Given the description of an element on the screen output the (x, y) to click on. 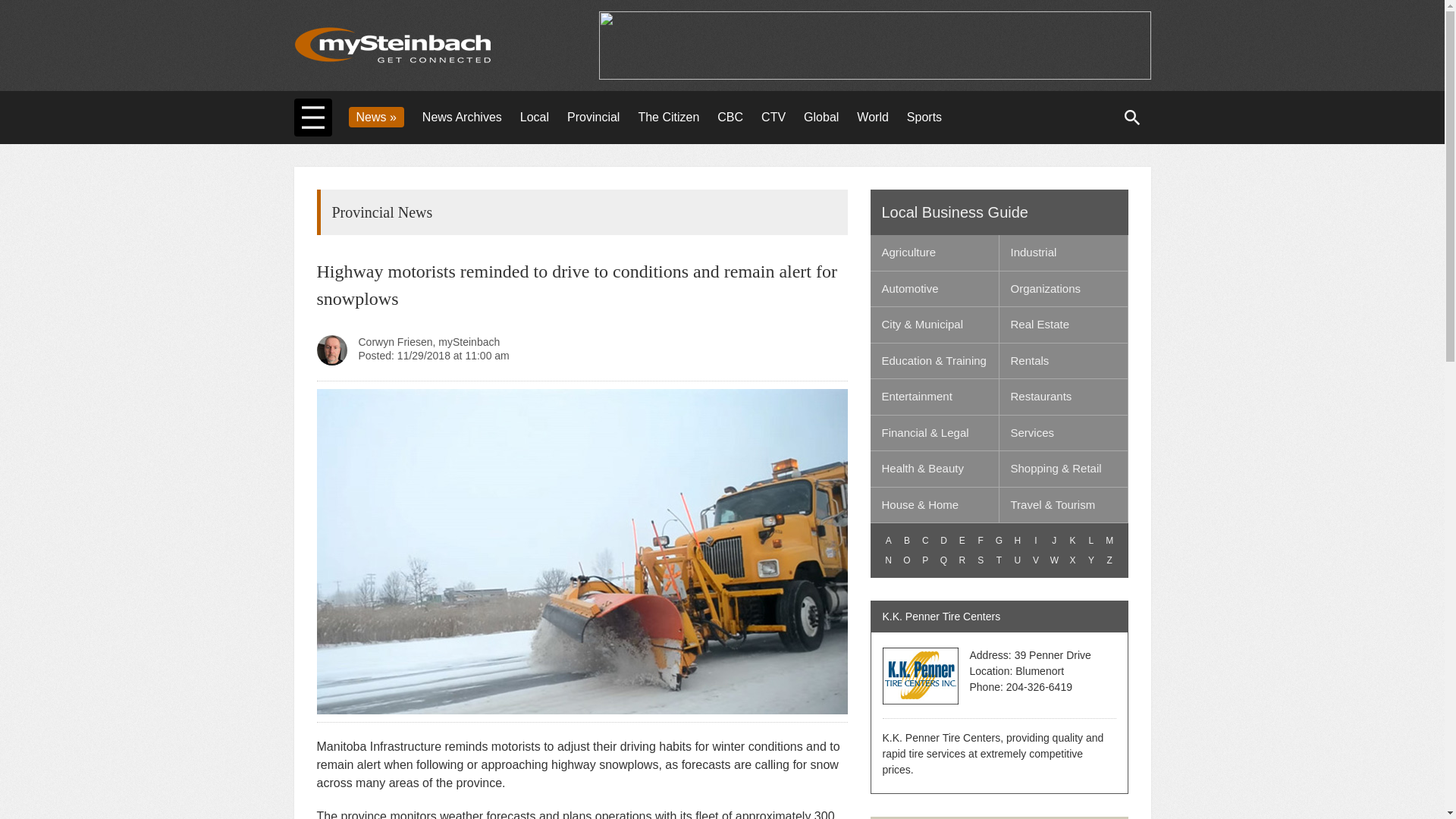
CTV (773, 117)
Global (820, 117)
News Archives (462, 117)
Local (534, 117)
Provincial (592, 117)
Sports (924, 117)
The Citizen (667, 117)
World (872, 117)
CBC (729, 117)
Agriculture (934, 253)
